Given the description of an element on the screen output the (x, y) to click on. 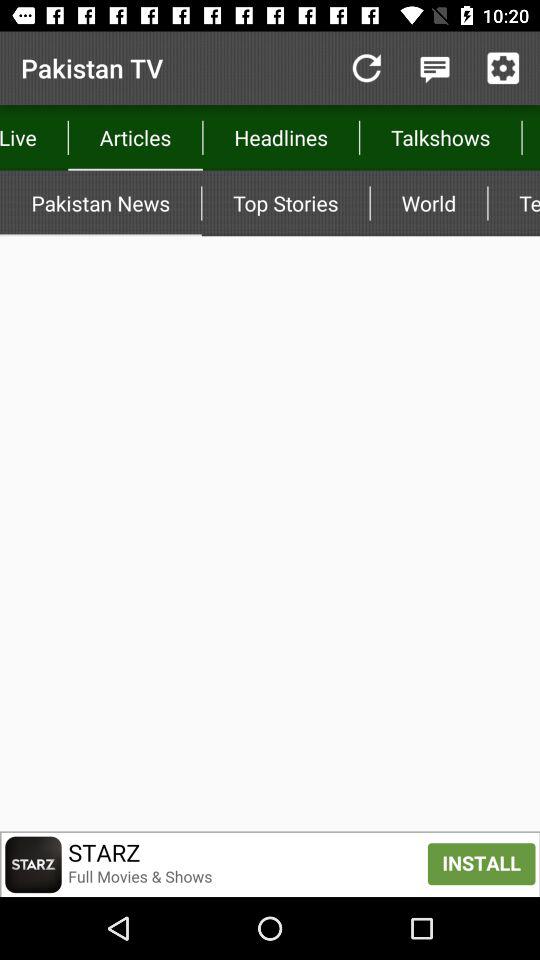
flip to the talkshows item (440, 137)
